Given the description of an element on the screen output the (x, y) to click on. 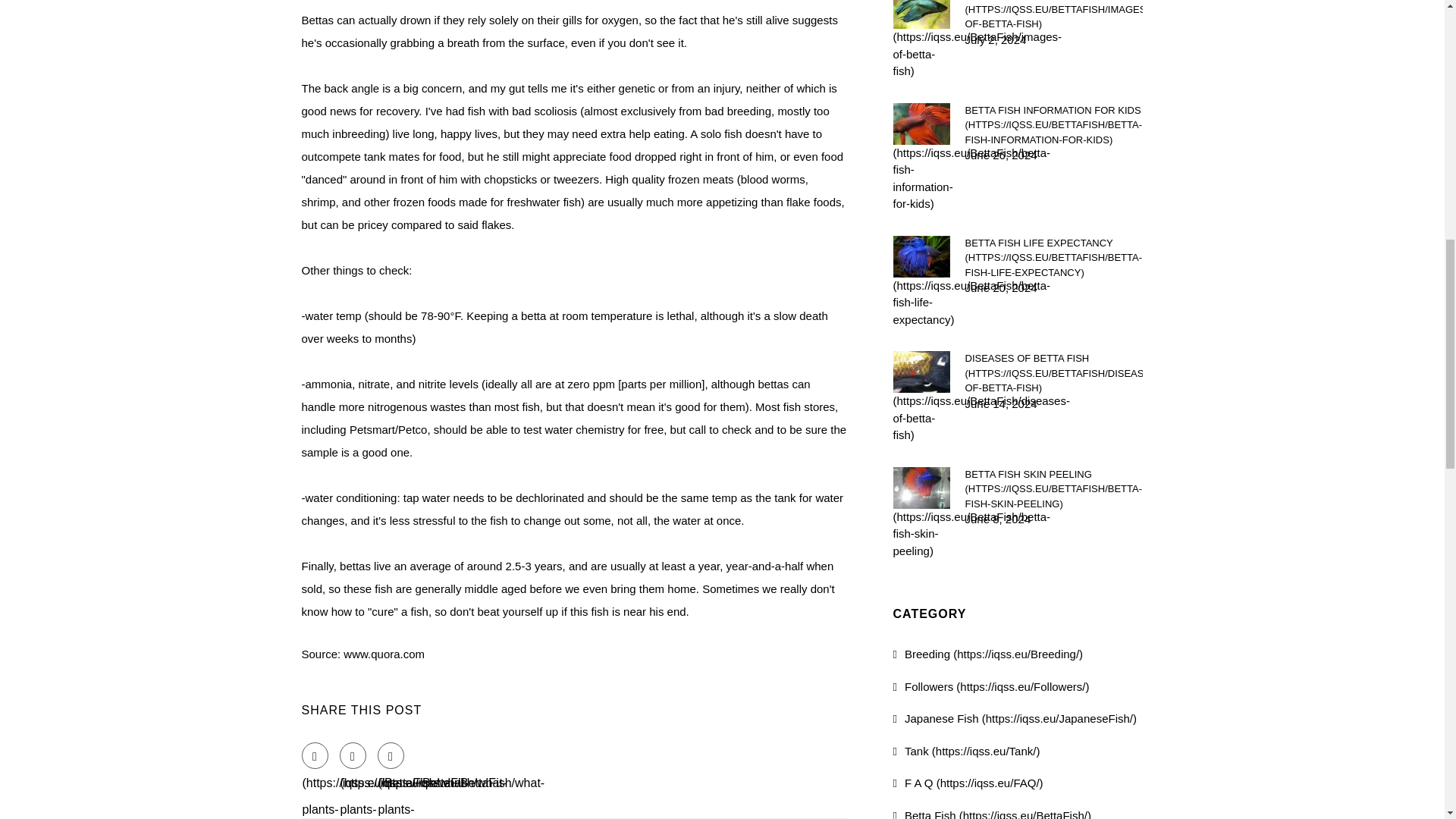
View all posts filed under F A Q (968, 782)
Google Plus (390, 755)
Facebook (315, 755)
View all posts filed under Breeding (988, 653)
View all posts filed under Betta Fish (991, 813)
View all posts filed under Tank (967, 750)
View all posts filed under Japanese Fish (1015, 717)
View all posts filed under Followers (991, 685)
Twitter (352, 755)
